Given the description of an element on the screen output the (x, y) to click on. 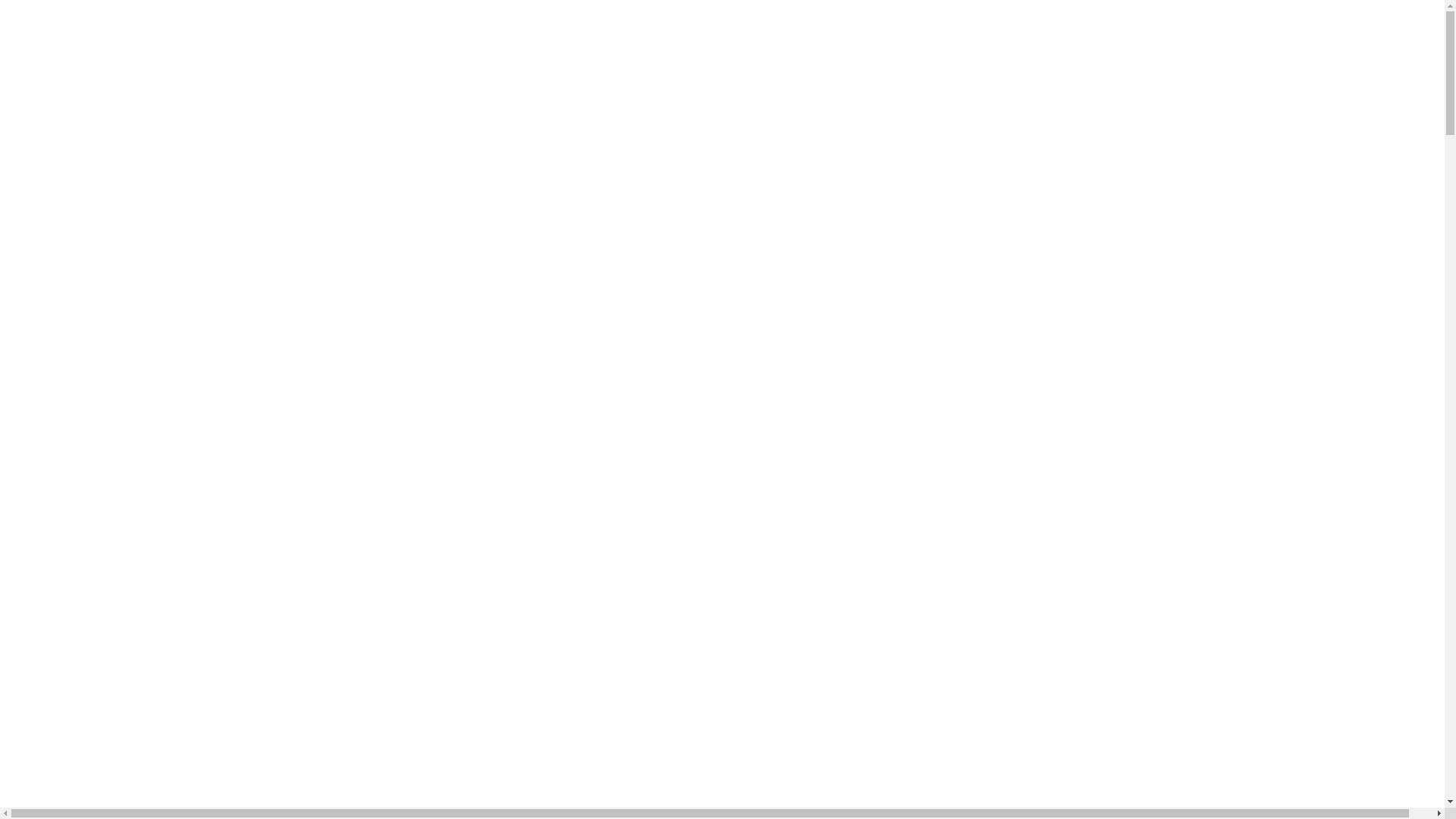
Volunteers Element type: text (61, 485)
Our Facility Element type: text (65, 147)
The Hospice Element type: text (97, 714)
Employment Opportunities Element type: text (132, 201)
Employment Opportunities Element type: text (132, 471)
Our Facility Element type: text (65, 417)
Gallery Element type: text (54, 269)
Careers Element type: text (54, 188)
Who We Are Element type: text (97, 659)
COVID-19 Family Updates Element type: text (107, 78)
Who We Are Element type: text (97, 389)
Volunteers Element type: text (61, 215)
About Element type: text (51, 376)
Careers Element type: text (54, 457)
DONATE TODAY Element type: text (52, 309)
Our Services Element type: text (97, 403)
Employment Opportunities Element type: text (132, 741)
Long-Term Care Element type: text (106, 362)
Contact Element type: text (55, 553)
Our Facility Element type: text (65, 686)
The Hospice Element type: text (97, 444)
Volunteers Element type: text (61, 755)
COVID-19 Family Updates Element type: text (103, 618)
Auxiliary Gift Shop Element type: text (114, 242)
DONATE TODAY Element type: text (52, 579)
Long-Term Care Element type: text (106, 92)
Volunteers Element type: text (92, 498)
Care Home Element type: text (94, 700)
About Element type: text (51, 106)
Auxiliary Gift Shop Element type: text (114, 512)
Care Home Element type: text (94, 430)
Volunteers Element type: text (92, 228)
Gallery Element type: text (54, 809)
Our Services Element type: text (97, 133)
The Hospice Element type: text (97, 174)
Contact Element type: text (55, 283)
COVID-19 Family Updates Element type: text (107, 348)
Gallery Element type: text (54, 539)
Care Home Element type: text (94, 160)
Volunteers Element type: text (92, 768)
Our Services Element type: text (97, 673)
About Element type: text (51, 646)
Careers Element type: text (54, 727)
Long-Term Care Element type: text (106, 632)
Who We Are Element type: text (97, 119)
Auxiliary Gift Shop Element type: text (114, 782)
